Given the description of an element on the screen output the (x, y) to click on. 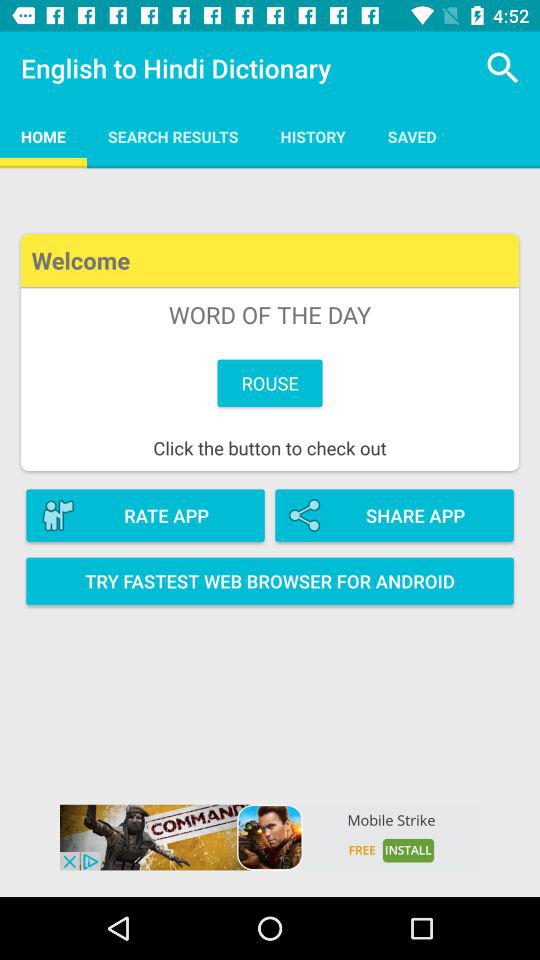
select the text which is immediately below word of the day (269, 383)
select the option try fastest web browser for android on page (269, 581)
go to the text saved (412, 136)
go to search (503, 68)
select the history tab (313, 136)
select the button which is above rate app (269, 352)
go to the text left to share app (145, 515)
